Given the description of an element on the screen output the (x, y) to click on. 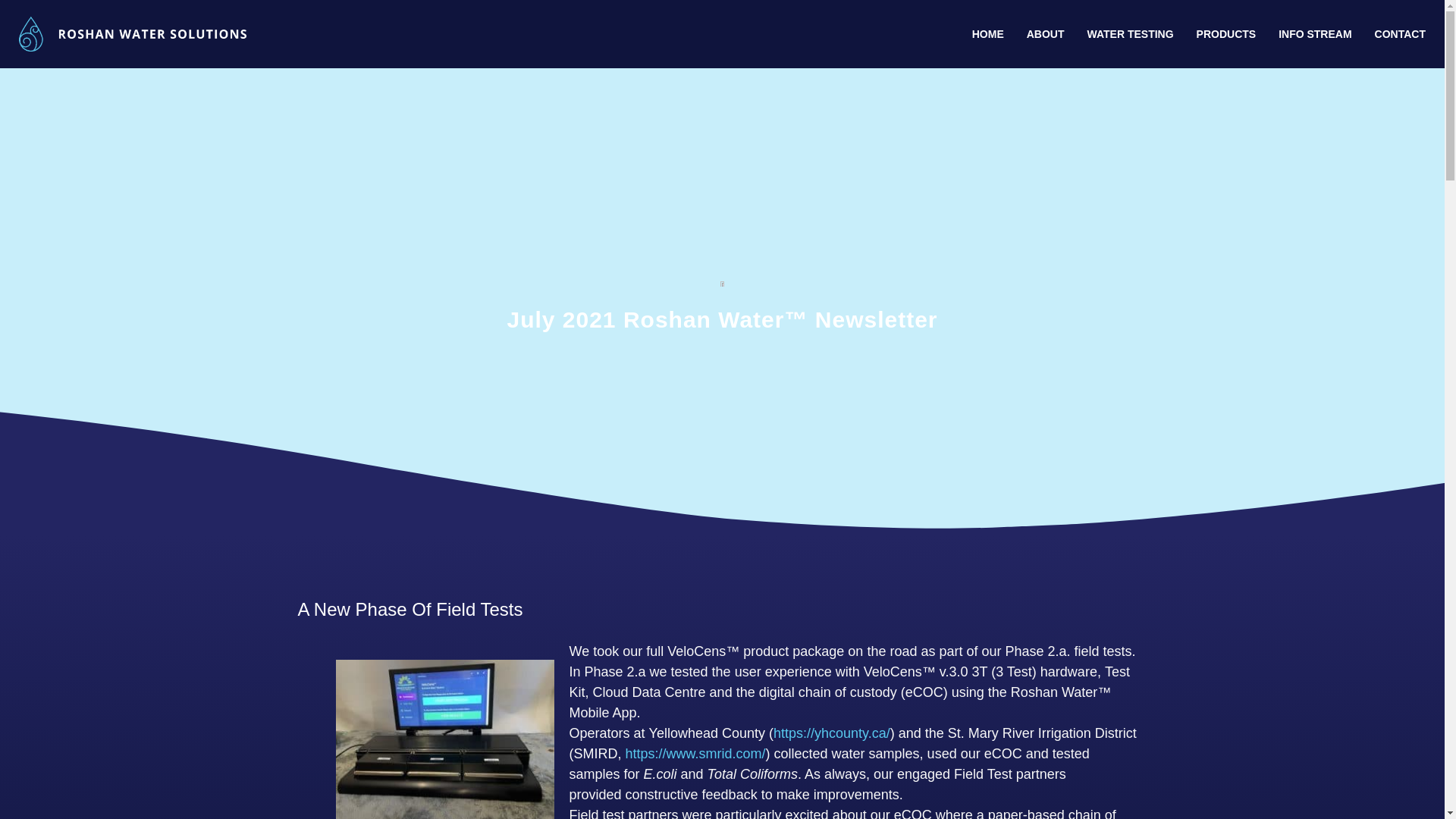
CONTACT (1399, 33)
ABOUT (1044, 33)
WATER TESTING (1130, 33)
INFO STREAM (1314, 33)
PRODUCTS (1226, 33)
HOME (987, 33)
